Given the description of an element on the screen output the (x, y) to click on. 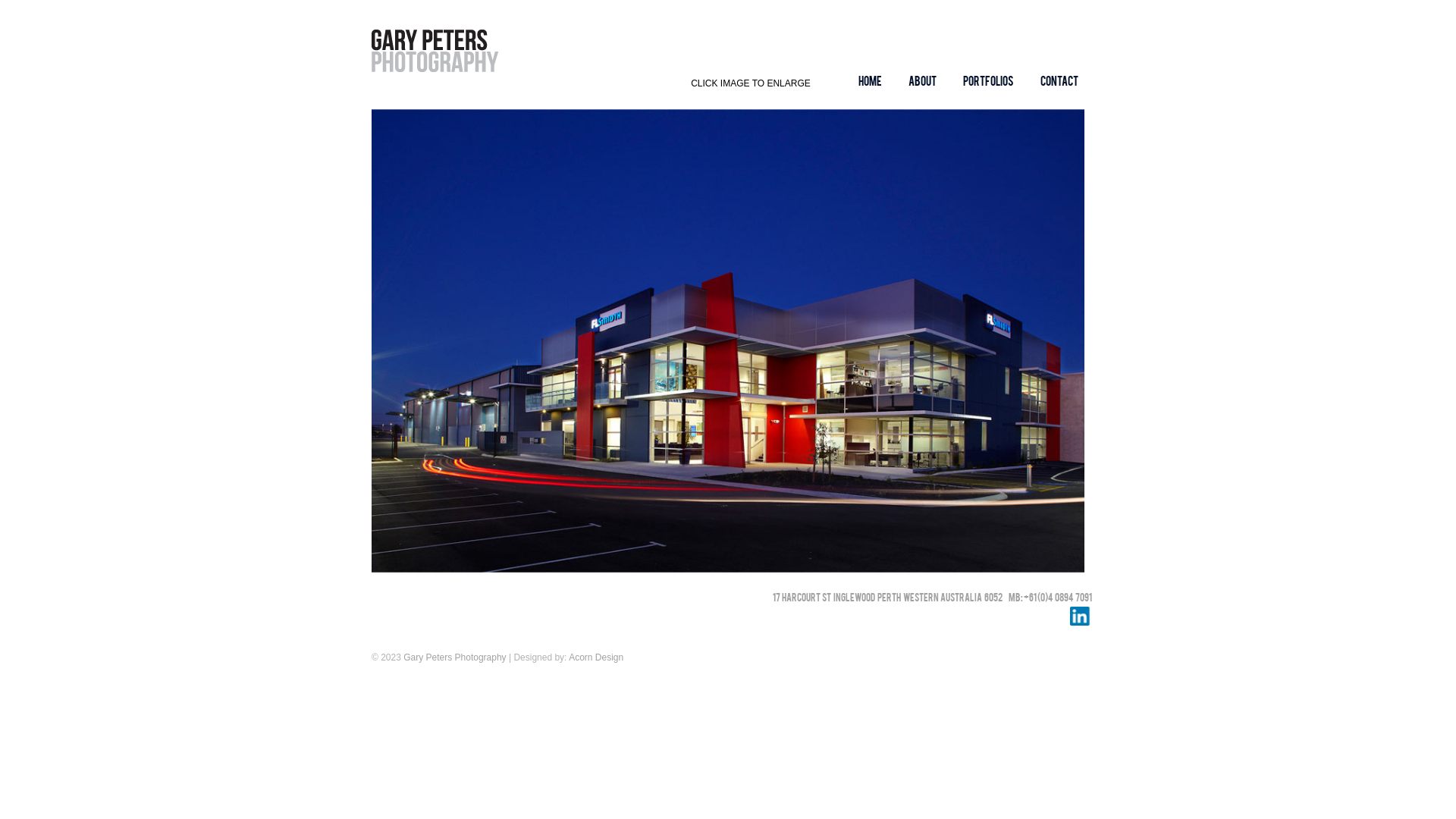
HOME Element type: text (870, 82)
CONTACT Element type: text (1058, 82)
Gary Peters Photography Element type: text (454, 657)
Acorn Design Element type: text (594, 657)
ABOUT Element type: text (922, 82)
PORTFOLIOS Element type: text (987, 82)
